Given the description of an element on the screen output the (x, y) to click on. 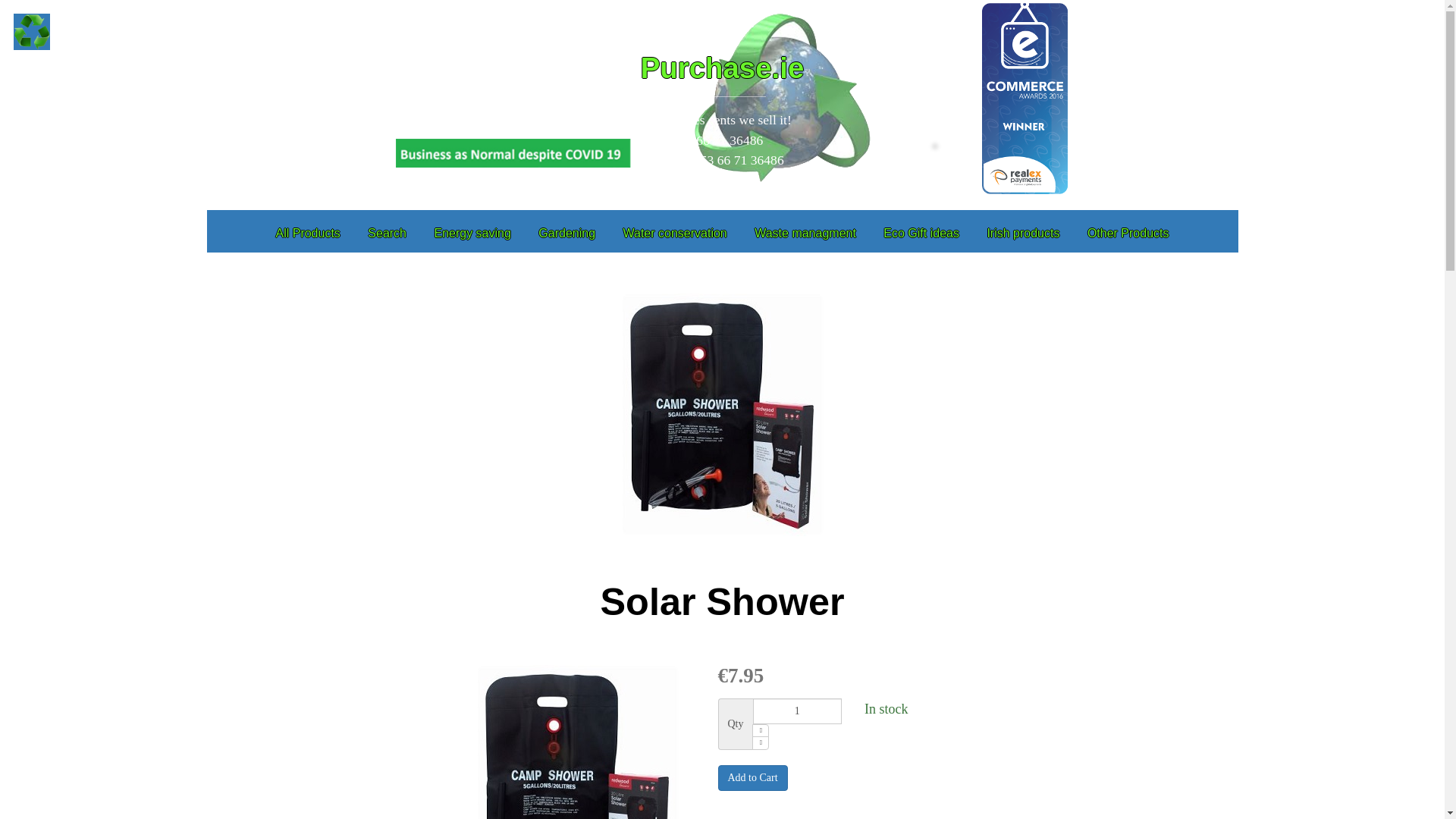
Add to Cart (752, 777)
Energy saving (472, 232)
All Products (307, 232)
Purchase.ie (722, 67)
Go to the home page of Purchase.ie (30, 31)
Eco Gift ideas (920, 232)
Other Products (1127, 232)
Water conservation (674, 232)
Irish products (1022, 232)
Waste managment (804, 232)
Gardening (566, 232)
1 (796, 710)
Search (387, 232)
